Given the description of an element on the screen output the (x, y) to click on. 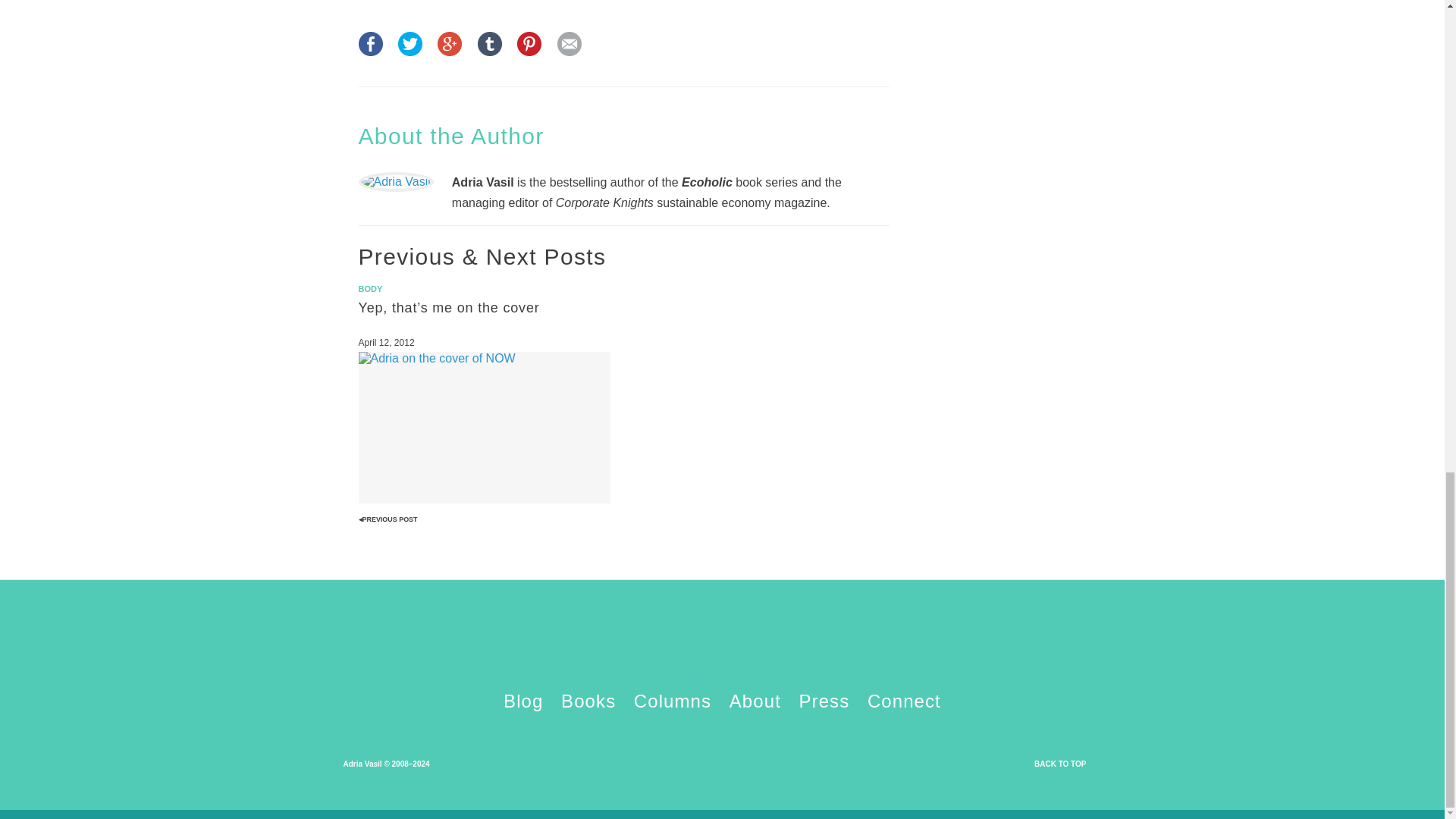
BODY (369, 288)
Pin it (528, 51)
Tweet (409, 51)
Books (588, 701)
About (754, 701)
Columns (671, 701)
Post to Tumblr (489, 51)
Email (568, 51)
Adria Vasil (722, 653)
Blog (523, 701)
